Given the description of an element on the screen output the (x, y) to click on. 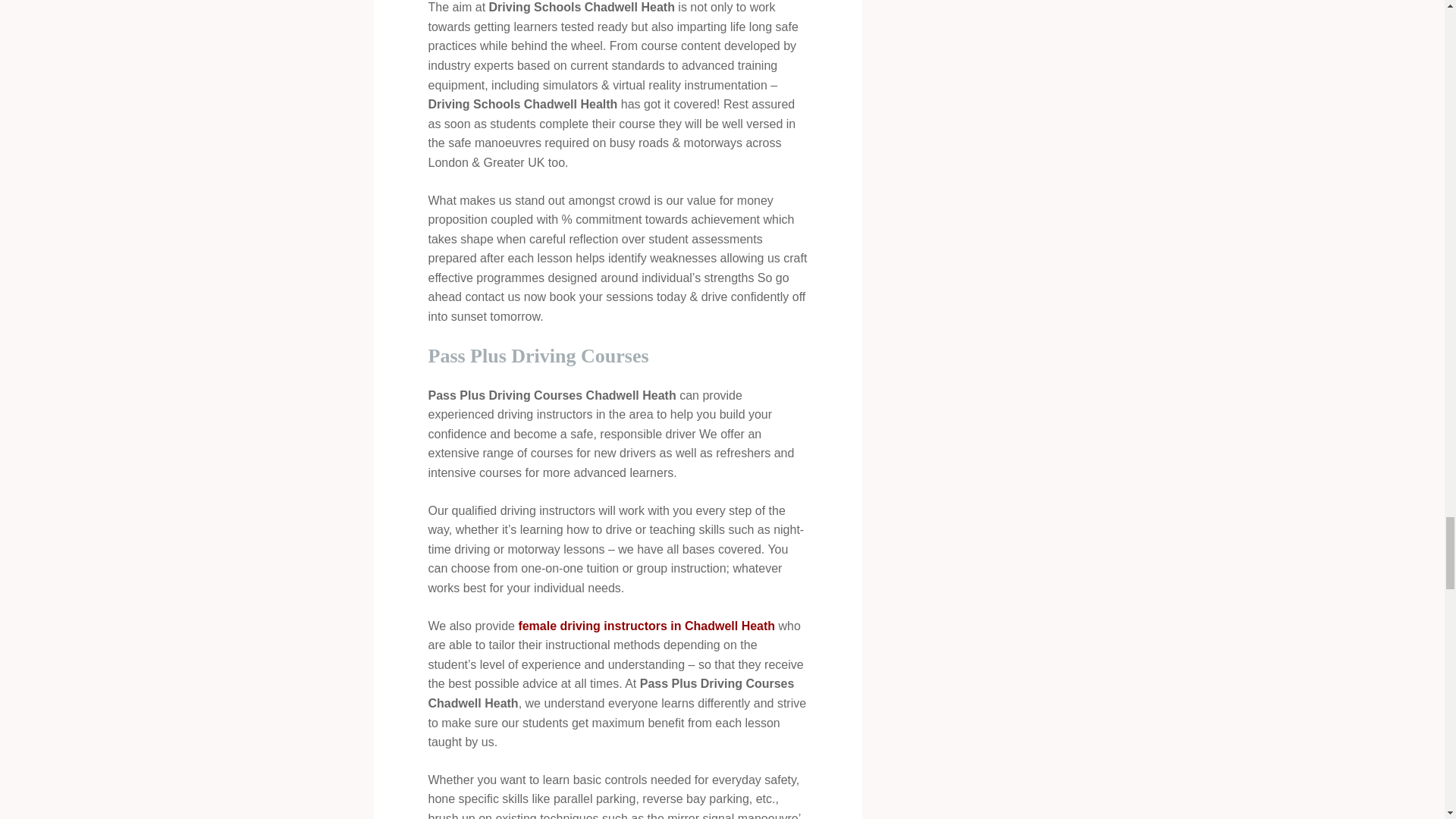
female driving instructors in Chadwell Heath (646, 626)
